Given the description of an element on the screen output the (x, y) to click on. 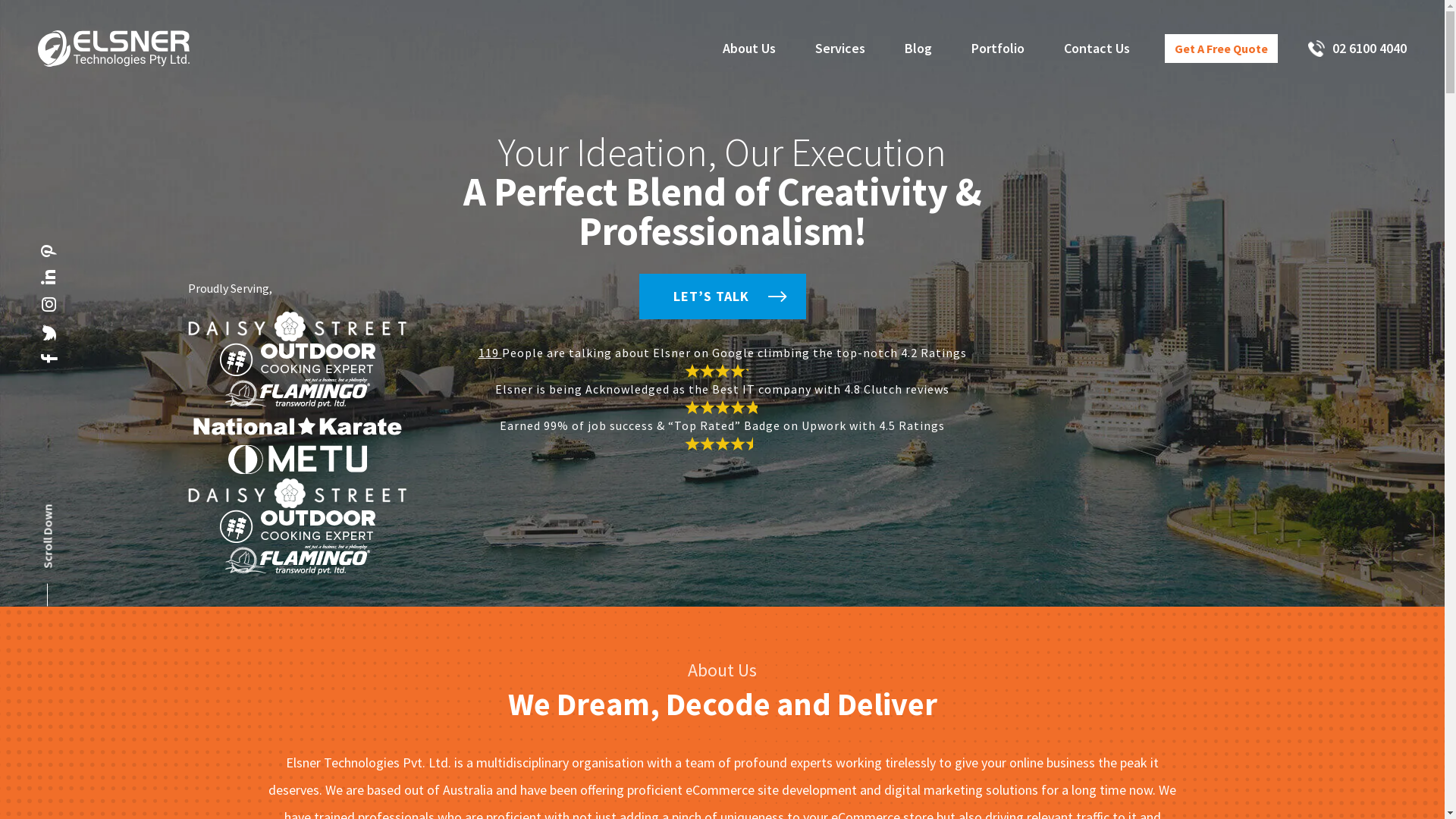
Get A Free Quote Element type: text (1220, 48)
Contact Us Element type: text (1096, 48)
Services Element type: text (840, 48)
Portfolio Element type: text (997, 48)
About Us Element type: text (748, 48)
Scroll Down Element type: text (72, 517)
Blog Element type: text (917, 48)
02 6100 4040 Element type: text (1349, 48)
